Given the description of an element on the screen output the (x, y) to click on. 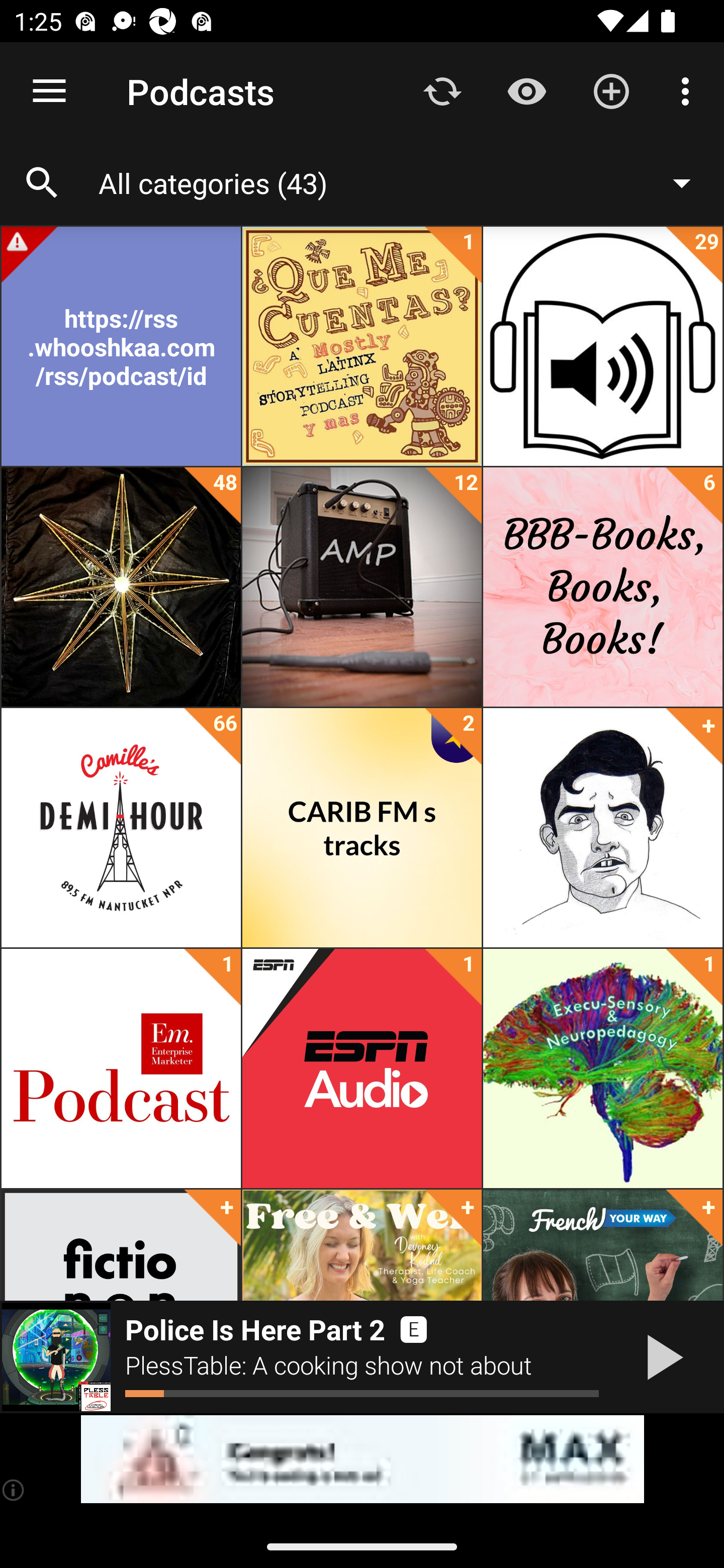
Open navigation sidebar (49, 91)
Update (442, 90)
Show / Hide played content (526, 90)
Add new Podcast (611, 90)
More options (688, 90)
Search (42, 183)
All categories (43) (404, 182)
https://rss.whooshkaa.com/rss/podcast/id/5884 (121, 346)
¿Qué Me Cuentas?: Latinx Storytelling 1 (361, 346)
Audiobooks 29 (602, 346)
Audiobooks 48 (121, 587)
Australian Music Podcasts 12 (361, 587)
BBB-Books, Books, Books! 6 (602, 587)
Camille's Demi-Hour - NANTUCKET NPR 66 (121, 827)
CARIB FM's tracks 2 (361, 827)
Cooking Issues with Dave Arnold + (602, 827)
Enterprise Marketer Podcast - Conference 1 (121, 1068)
ESPN Audio 1 (361, 1068)
Play / Pause (660, 1356)
app-monetization (362, 1459)
(i) (14, 1489)
